Given the description of an element on the screen output the (x, y) to click on. 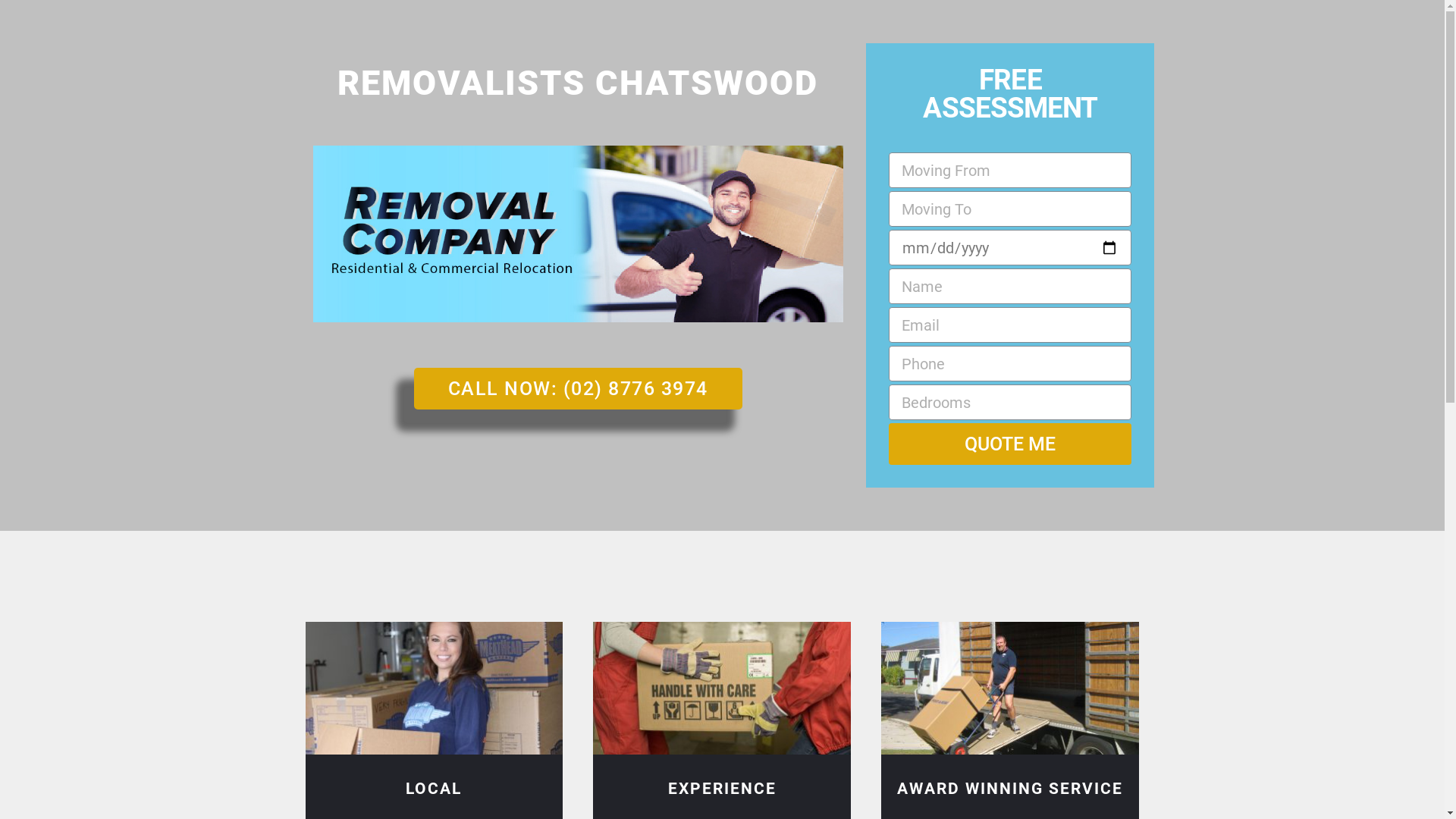
QUOTE ME Element type: text (1009, 443)
CALL NOW: (02) 8776 3974 Element type: text (578, 388)
Local Removalists Chatswood Element type: hover (433, 687)
Award Winning Chatswood Removal Services Element type: hover (1010, 687)
Experienced Removalists Chatswood Element type: hover (721, 687)
